Given the description of an element on the screen output the (x, y) to click on. 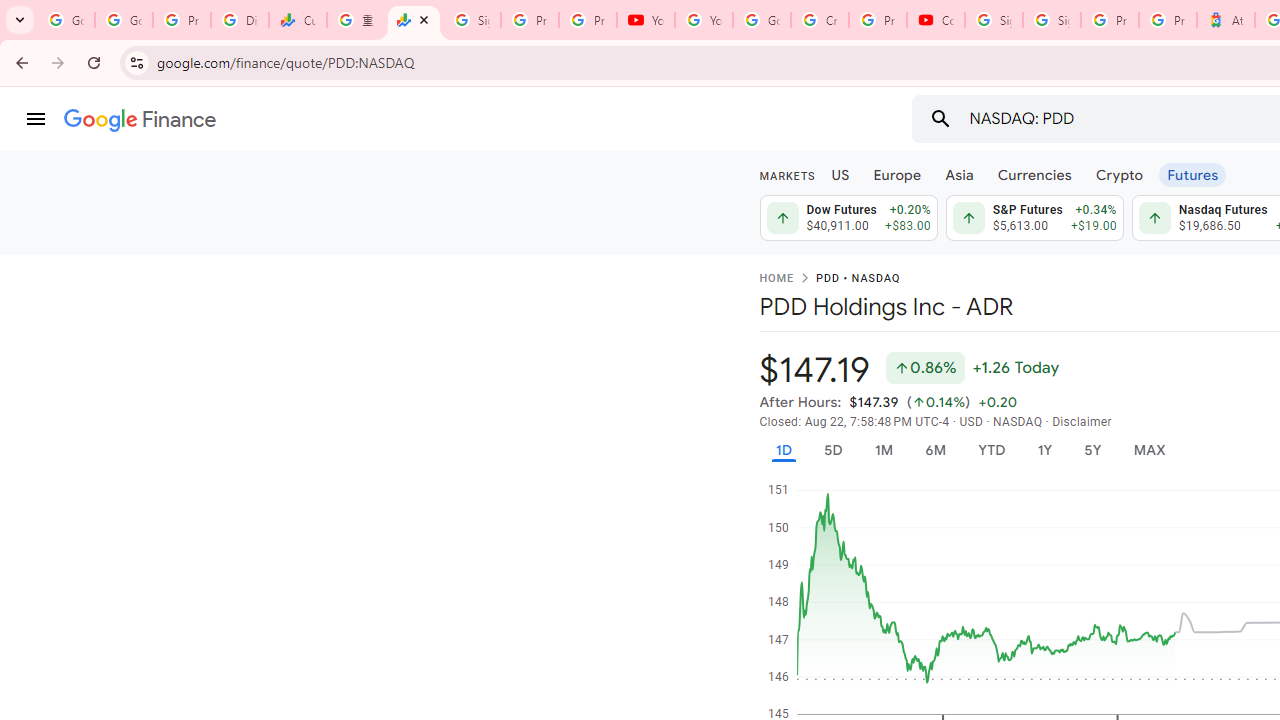
Sign in - Google Accounts (1051, 20)
Atour Hotel - Google hotels (1225, 20)
1D (783, 449)
YouTube (703, 20)
Back (19, 62)
System (10, 11)
Search (939, 118)
Currencies - Google Finance (297, 20)
1Y (1044, 449)
5D (832, 449)
Search tabs (20, 20)
